Given the description of an element on the screen output the (x, y) to click on. 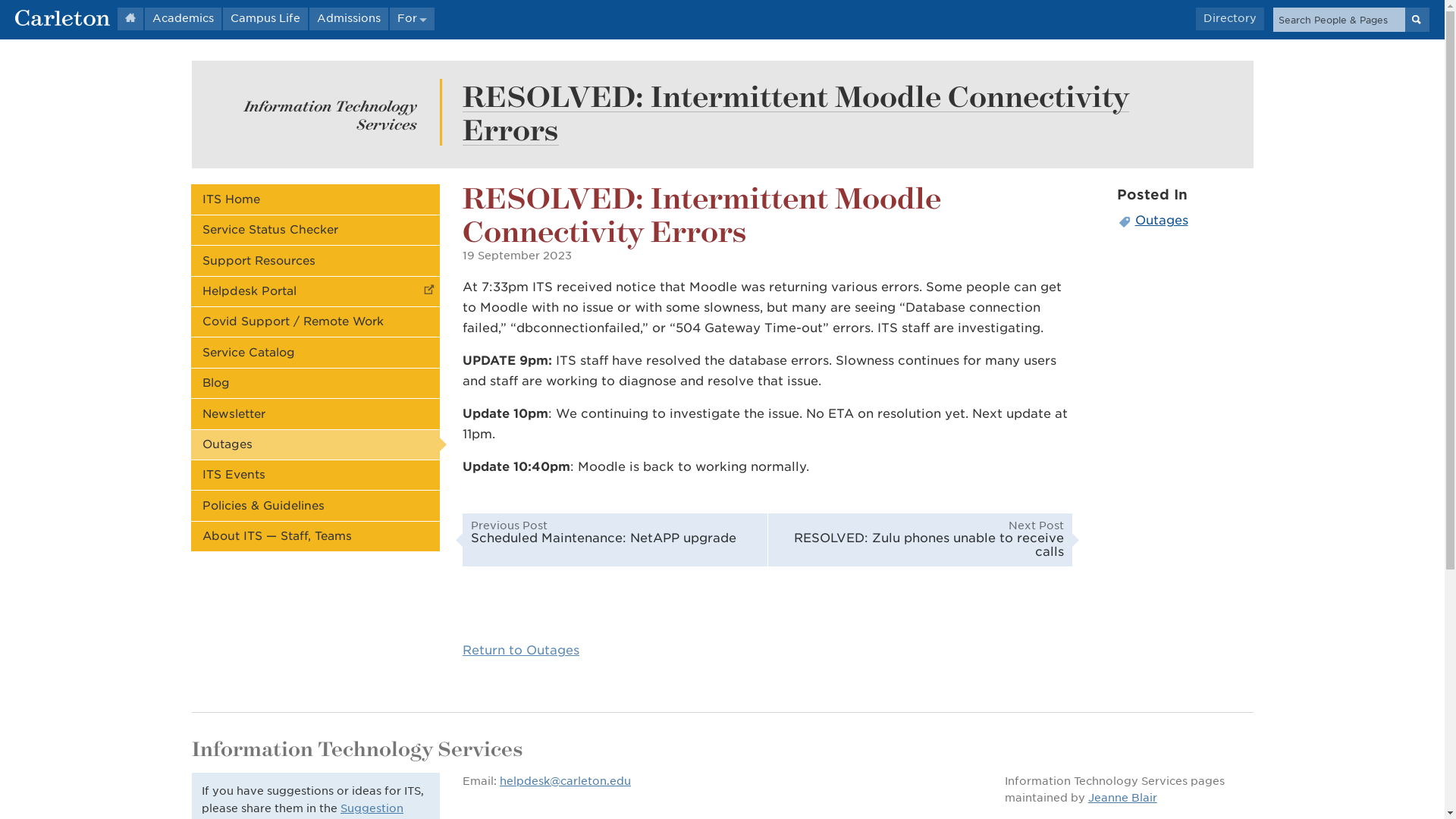
Outages (1184, 219)
RESOLVED: Intermittent Moodle Connectivity Errors (796, 112)
Information Technology Services (330, 114)
Support Resources (314, 260)
Jeanne Blair (1122, 797)
Service Catalog (314, 351)
Campus Life (264, 18)
For (411, 18)
Helpdesk Portal (314, 291)
Blog (314, 383)
